Given the description of an element on the screen output the (x, y) to click on. 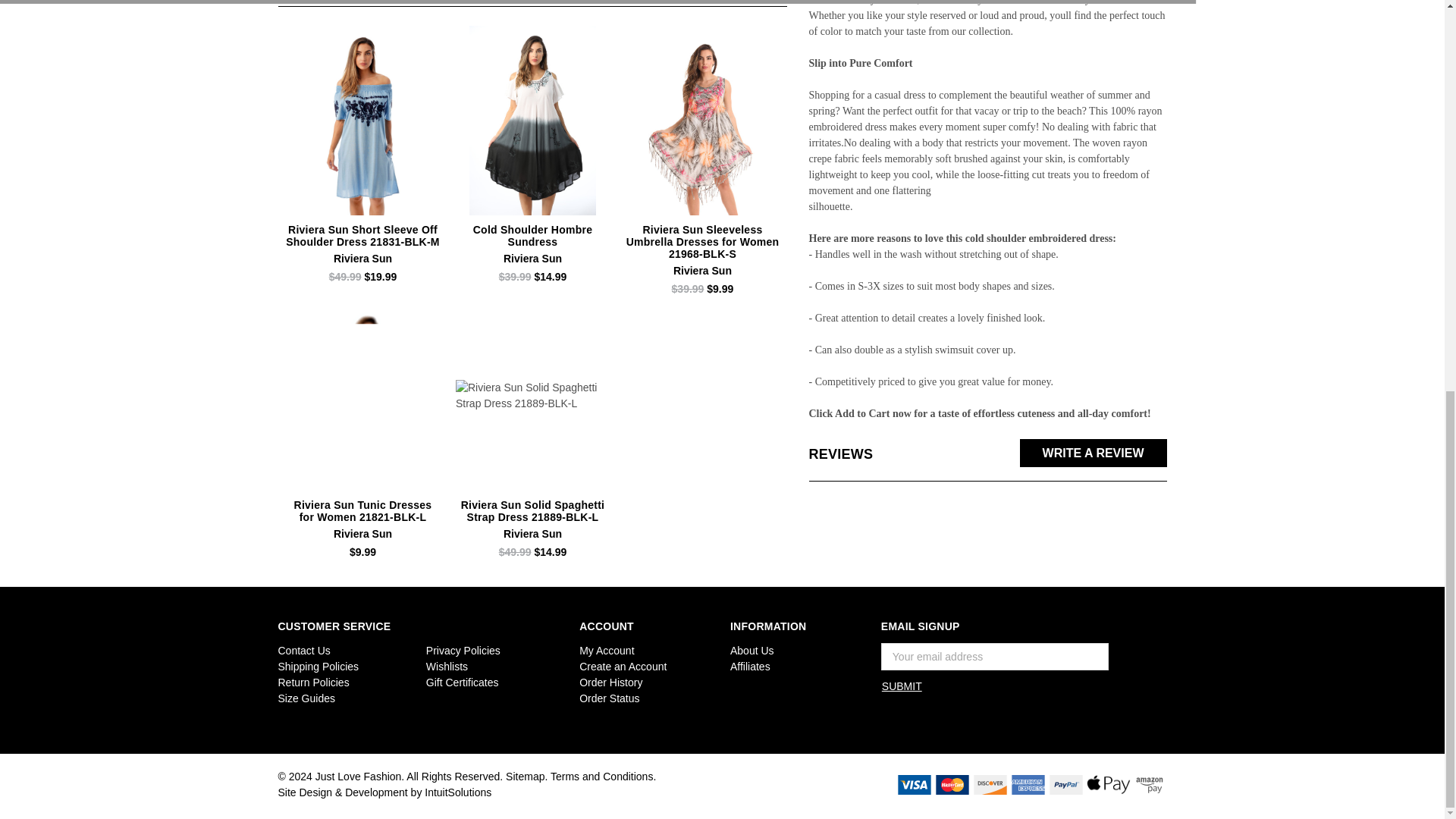
We accept Visa Visa logo (914, 784)
We accept Paypal Paypal logo (1065, 784)
Submit (901, 685)
We accept Mastercard Mastercard logo (952, 784)
We accept Discover Discover logo (990, 784)
Riviera Sun Solid Spaghetti Strap Dress 21889-BLK-L (532, 395)
We accept American Express American Express logo (1027, 784)
